Given the description of an element on the screen output the (x, y) to click on. 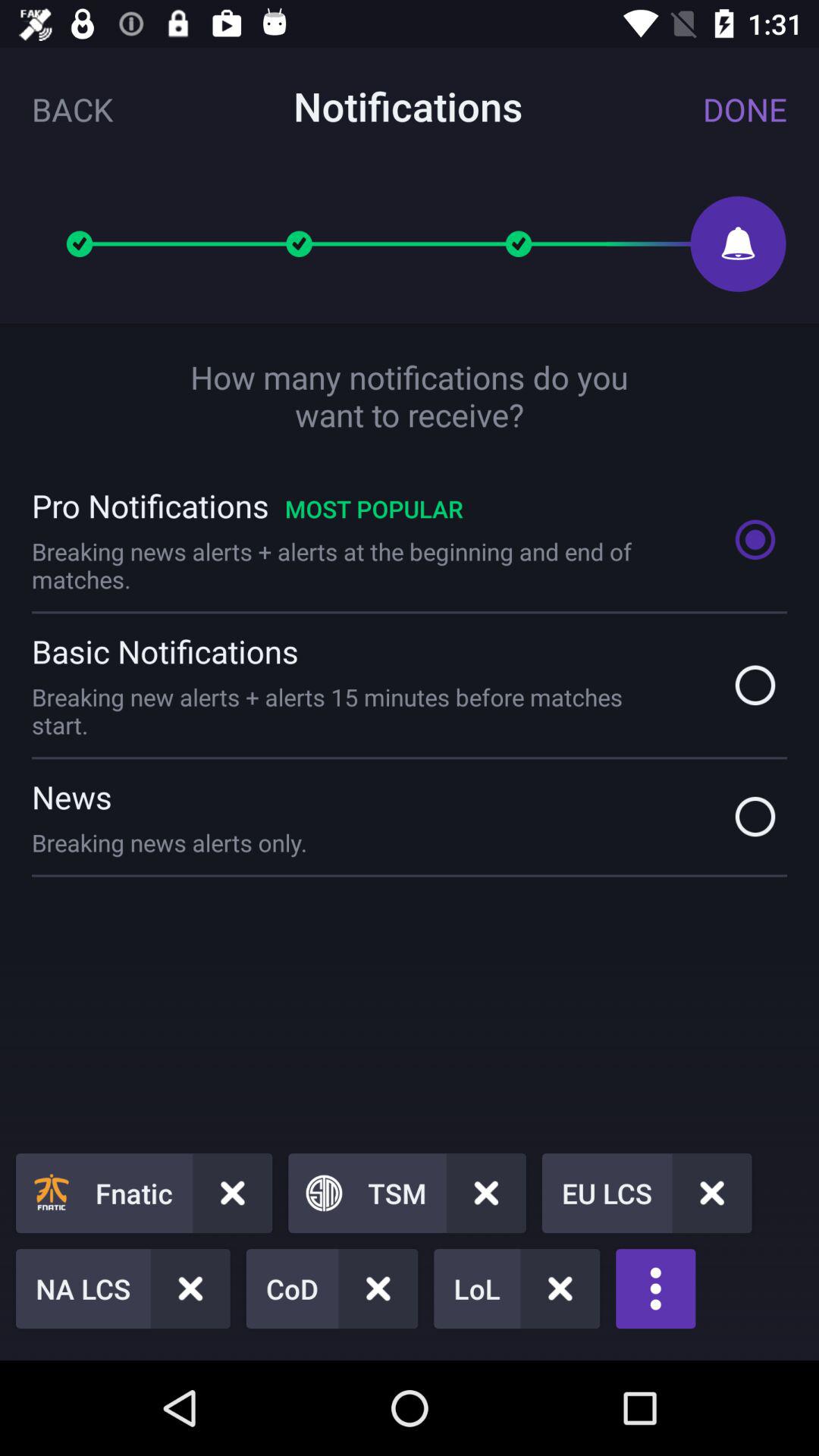
open item to the right of the notifications icon (745, 108)
